Given the description of an element on the screen output the (x, y) to click on. 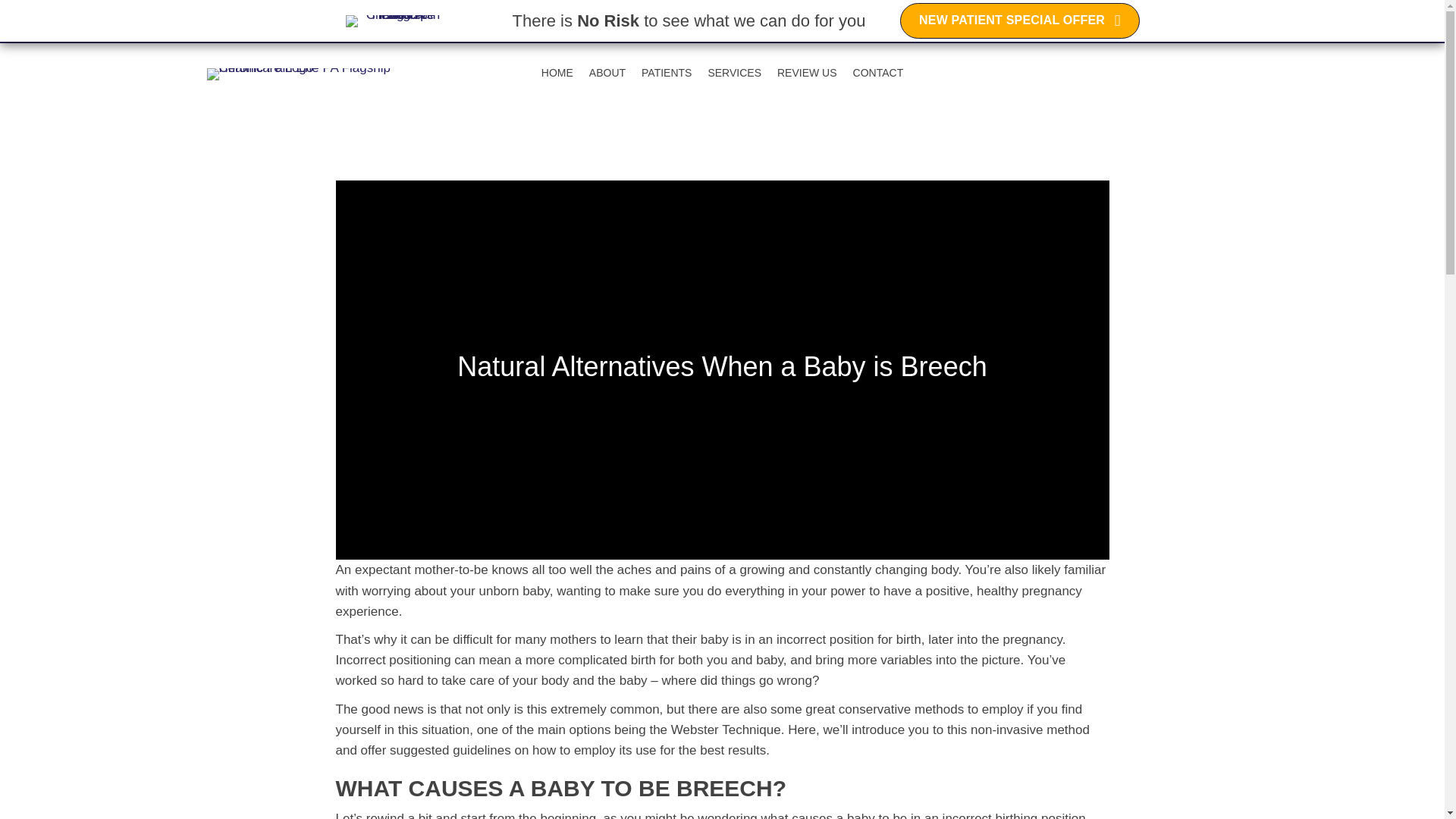
NEW PATIENT SPECIAL OFFER (1018, 20)
SERVICES (734, 72)
Chronic Pain Erie PA Flagship Healthcare Logo (397, 21)
ABOUT (606, 72)
HOME (557, 72)
PATIENTS (665, 72)
Chronic Pain Erie PA Flagship Healthcare Logo (310, 73)
REVIEW US (807, 72)
CONTACT (878, 72)
